Given the description of an element on the screen output the (x, y) to click on. 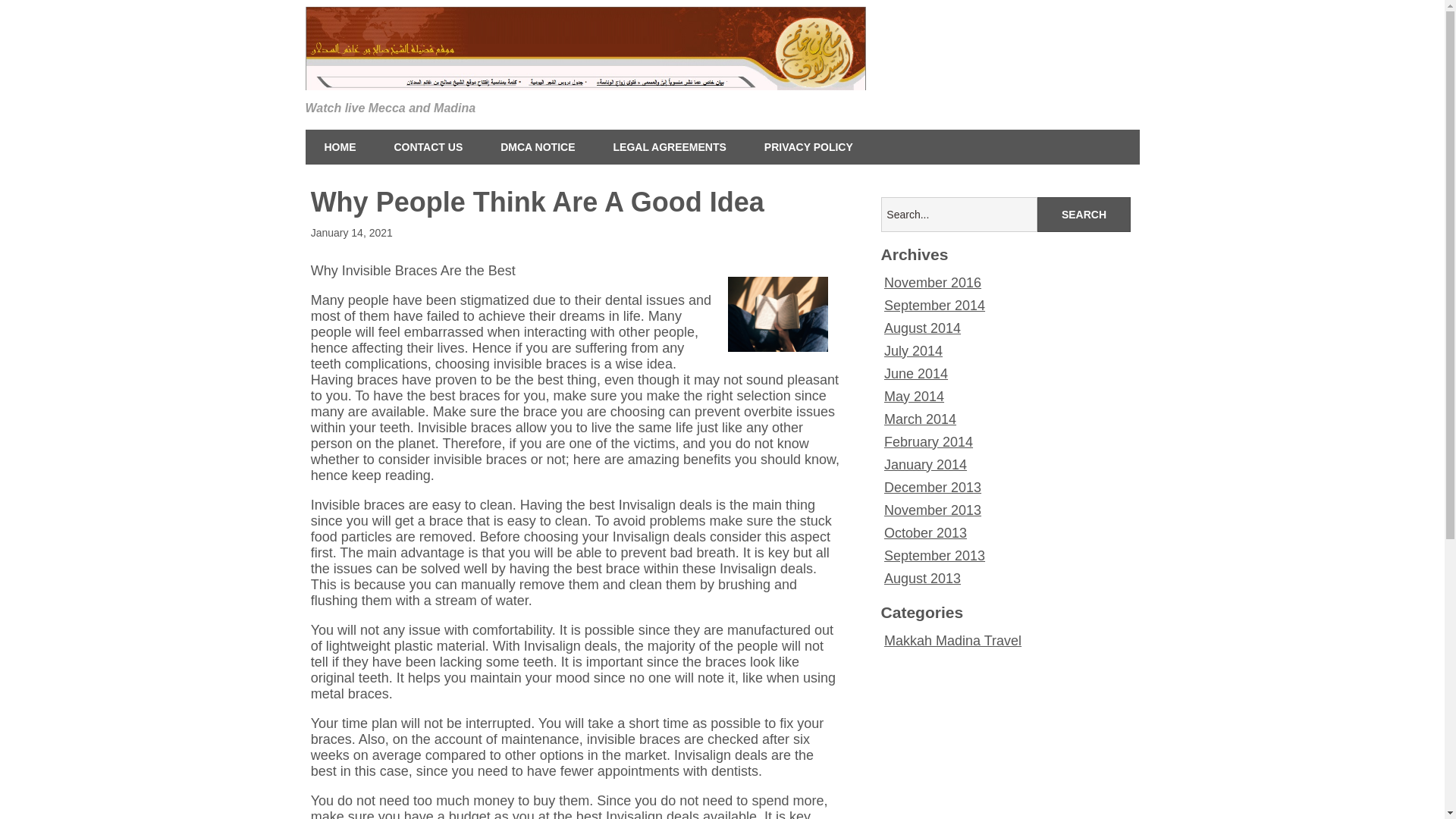
CONTACT US (427, 146)
DMCA NOTICE (537, 146)
LEGAL AGREEMENTS (669, 146)
HOME (339, 146)
